Given the description of an element on the screen output the (x, y) to click on. 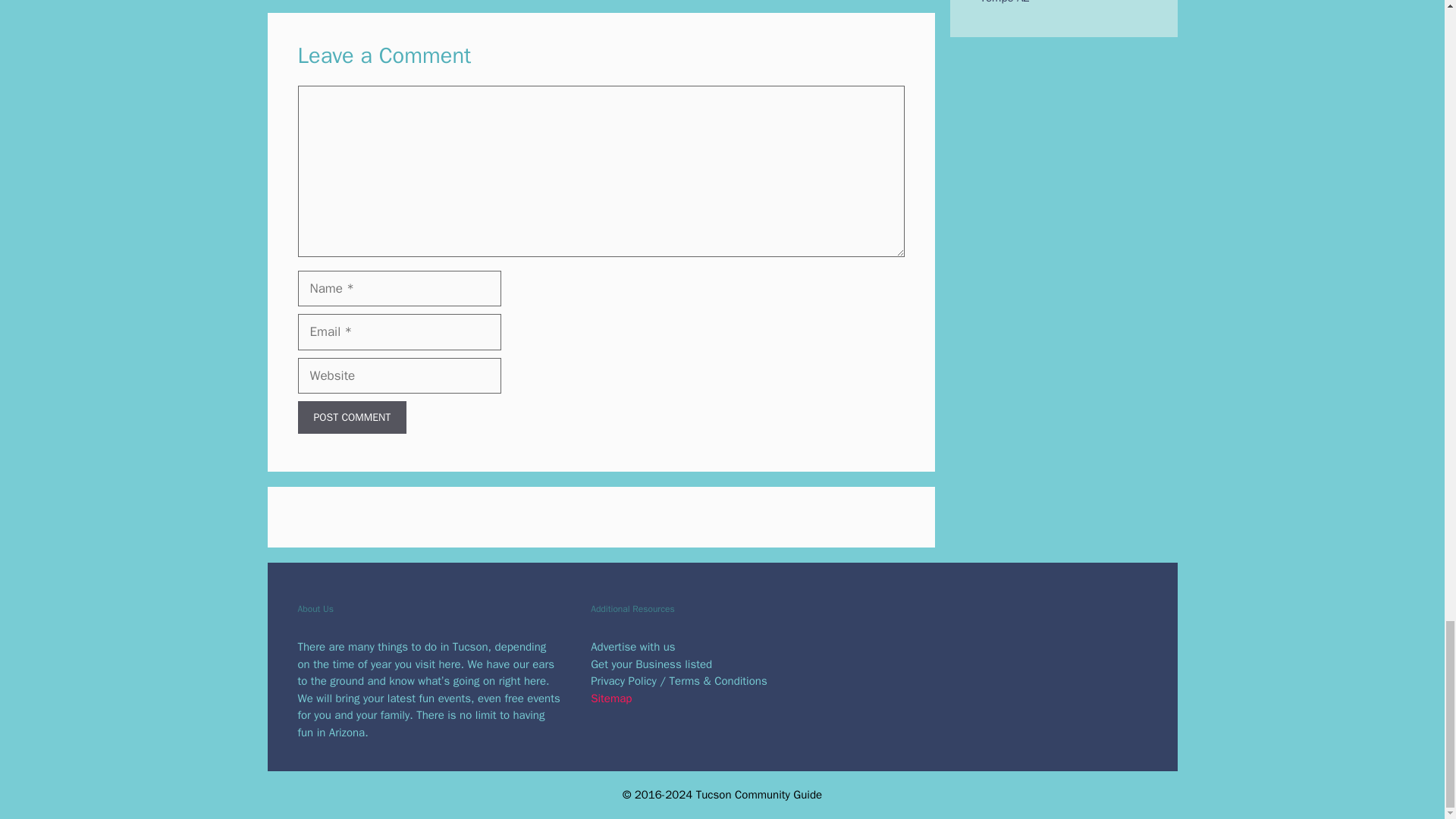
Post Comment (351, 417)
Post Comment (351, 417)
